Given the description of an element on the screen output the (x, y) to click on. 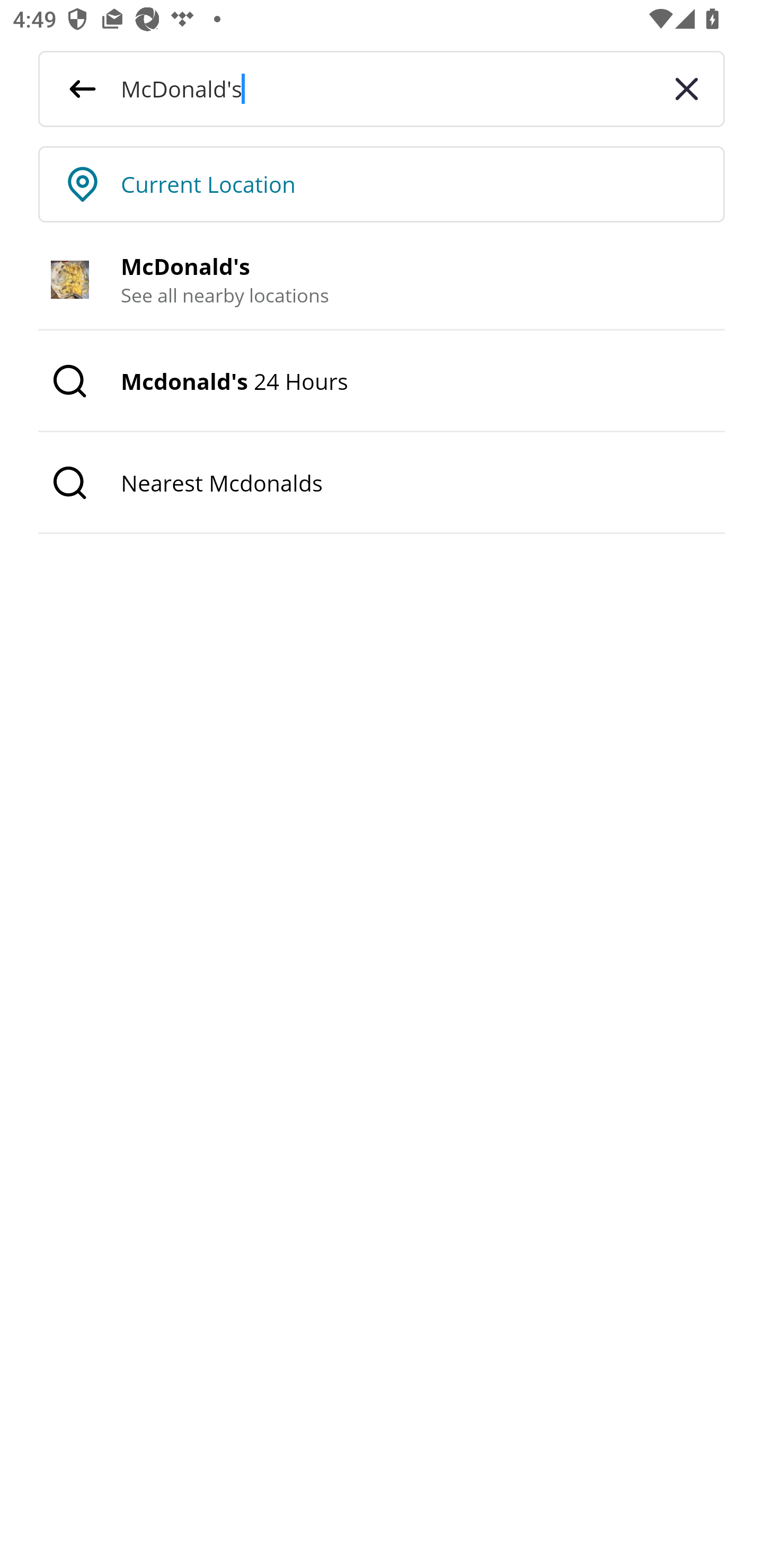
McDonald's See all nearby locations (381, 279)
